Given the description of an element on the screen output the (x, y) to click on. 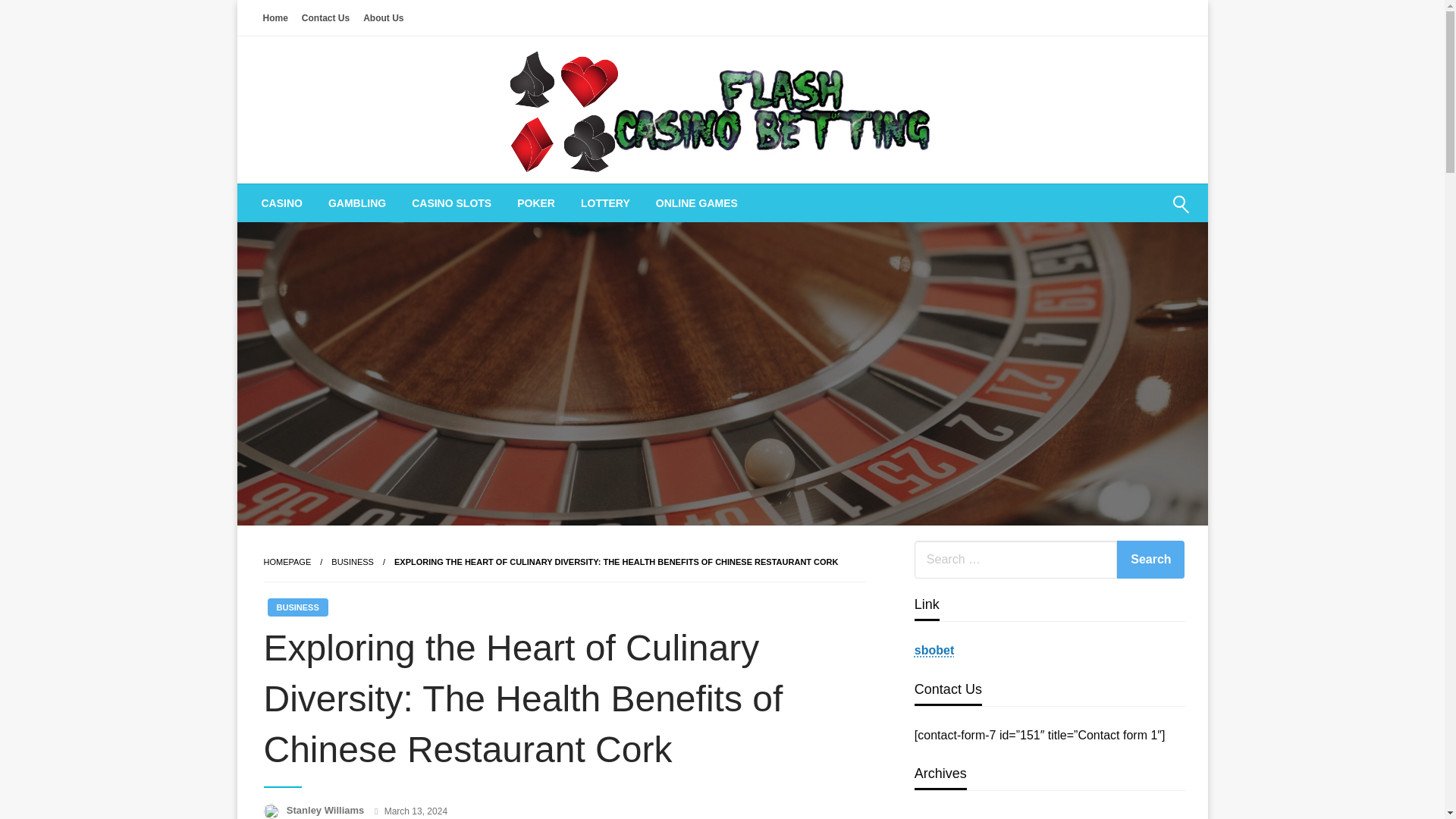
LOTTERY (605, 202)
Flash Casino Betting (649, 203)
Search (1150, 559)
Home (275, 17)
CASINO SLOTS (450, 202)
Stanley Williams (326, 809)
GAMBLING (356, 202)
POKER (535, 202)
Homepage (287, 561)
Search (1144, 213)
